Given the description of an element on the screen output the (x, y) to click on. 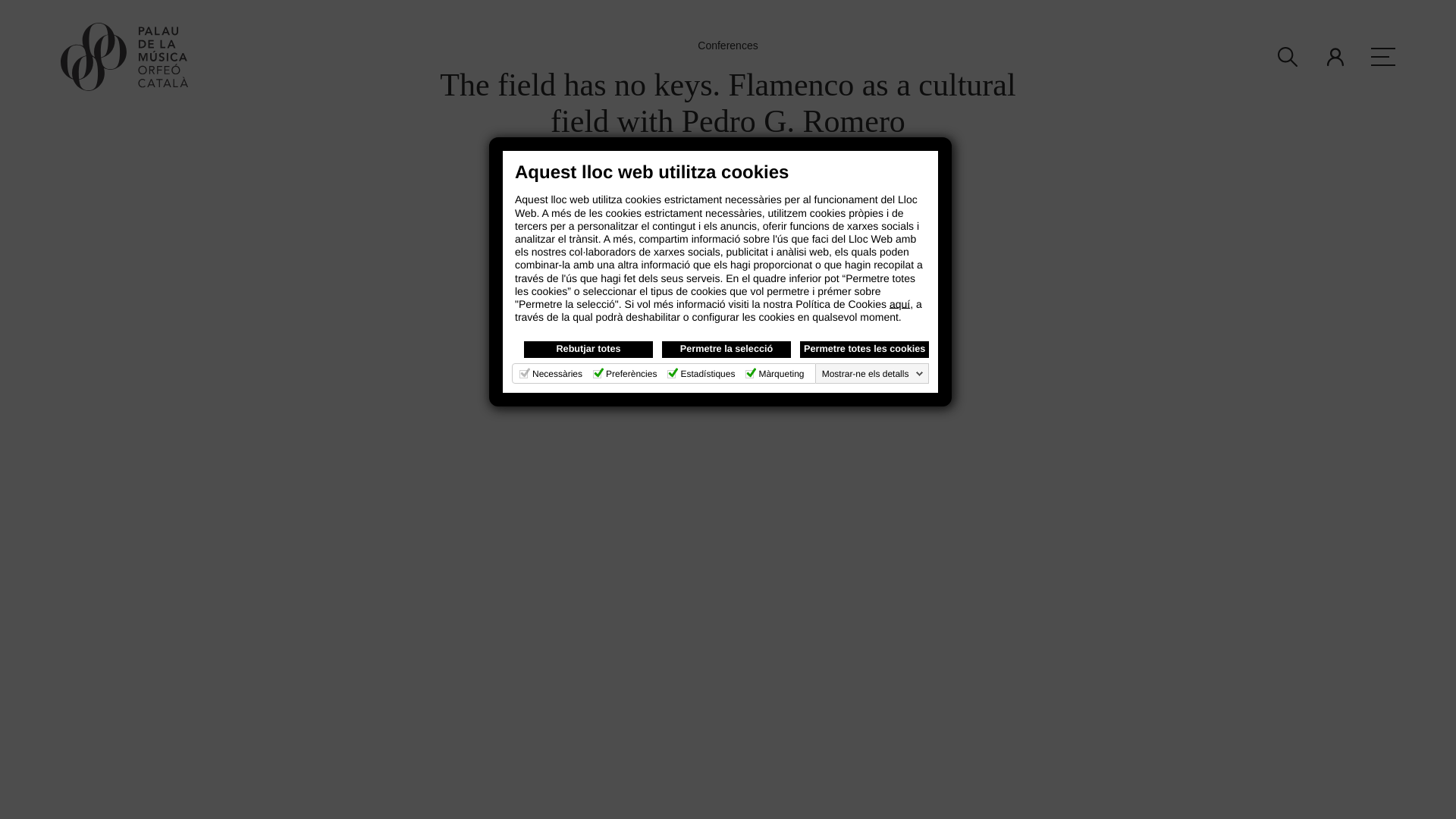
Permetre totes les cookies (863, 349)
Mostrar-ne els detalls (872, 373)
Rebutjar totes (588, 349)
